Given the description of an element on the screen output the (x, y) to click on. 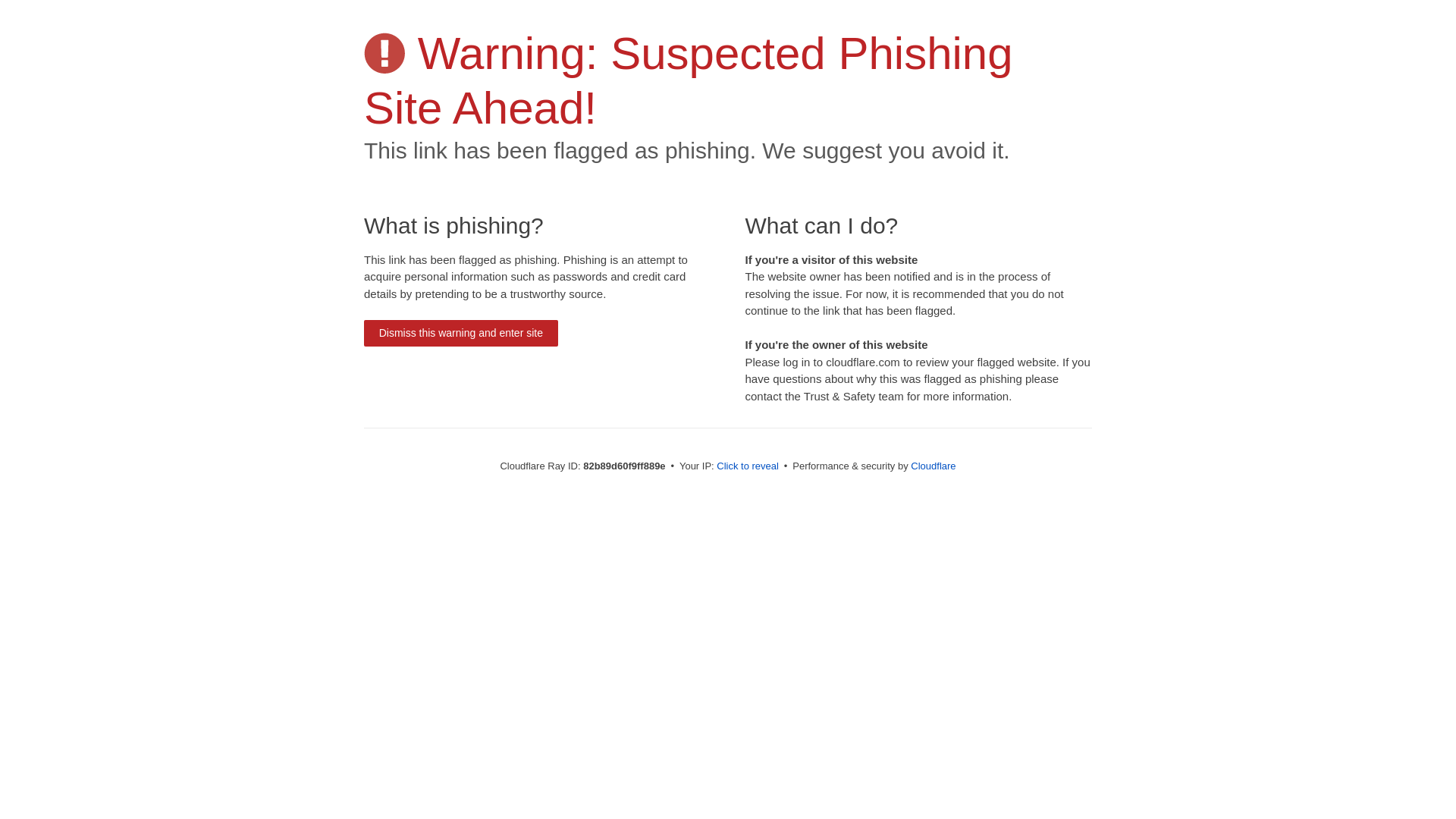
Dismiss this warning and enter site Element type: text (461, 333)
Click to reveal Element type: text (747, 465)
Cloudflare Element type: text (932, 465)
